Given the description of an element on the screen output the (x, y) to click on. 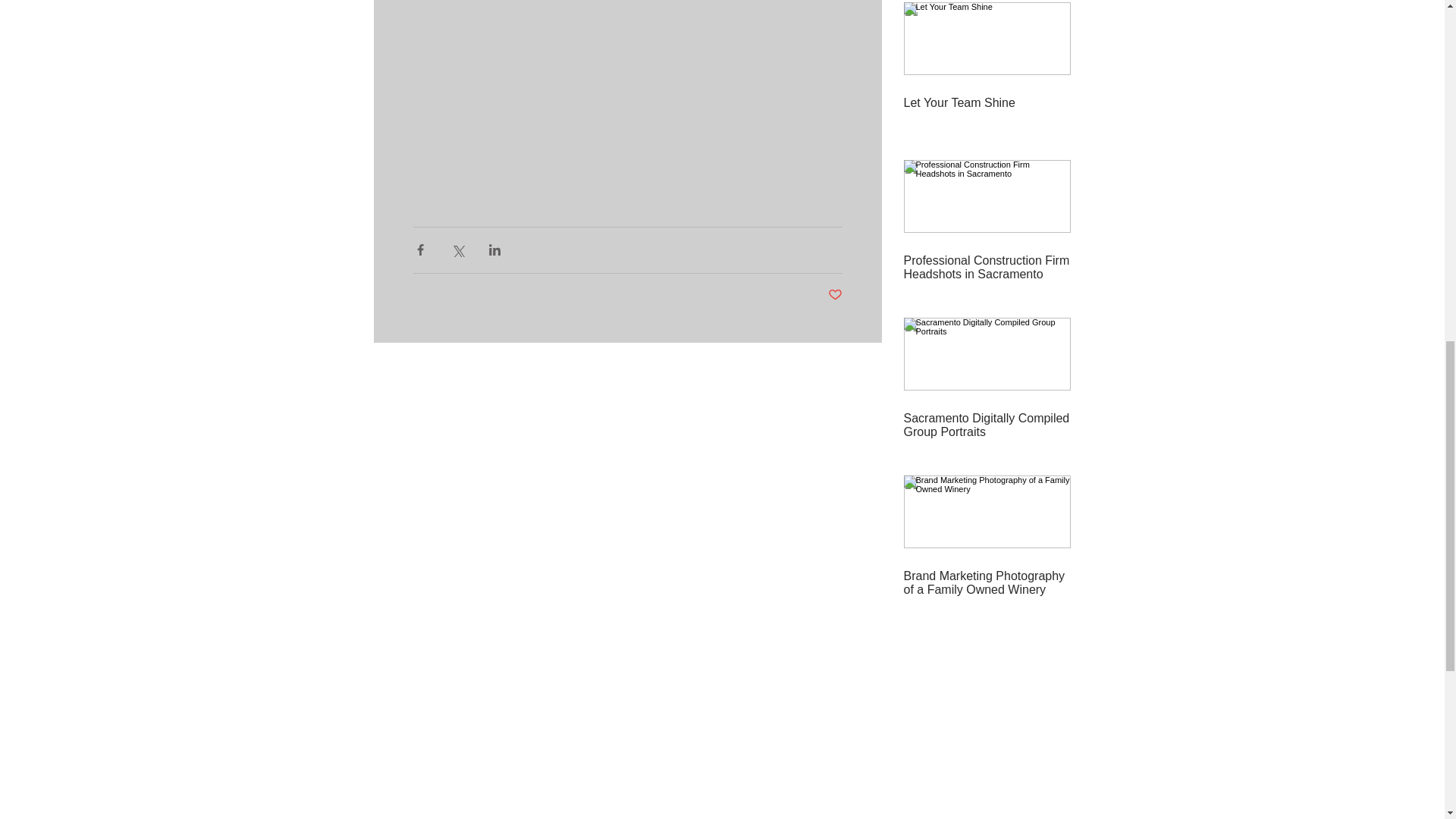
Sacramento Digitally Compiled Group Portraits (987, 424)
Let Your Team Shine (987, 102)
Post not marked as liked (835, 295)
Professional Construction Firm Headshots in Sacramento (987, 267)
Brand Marketing Photography of a Family Owned Winery (987, 583)
